Given the description of an element on the screen output the (x, y) to click on. 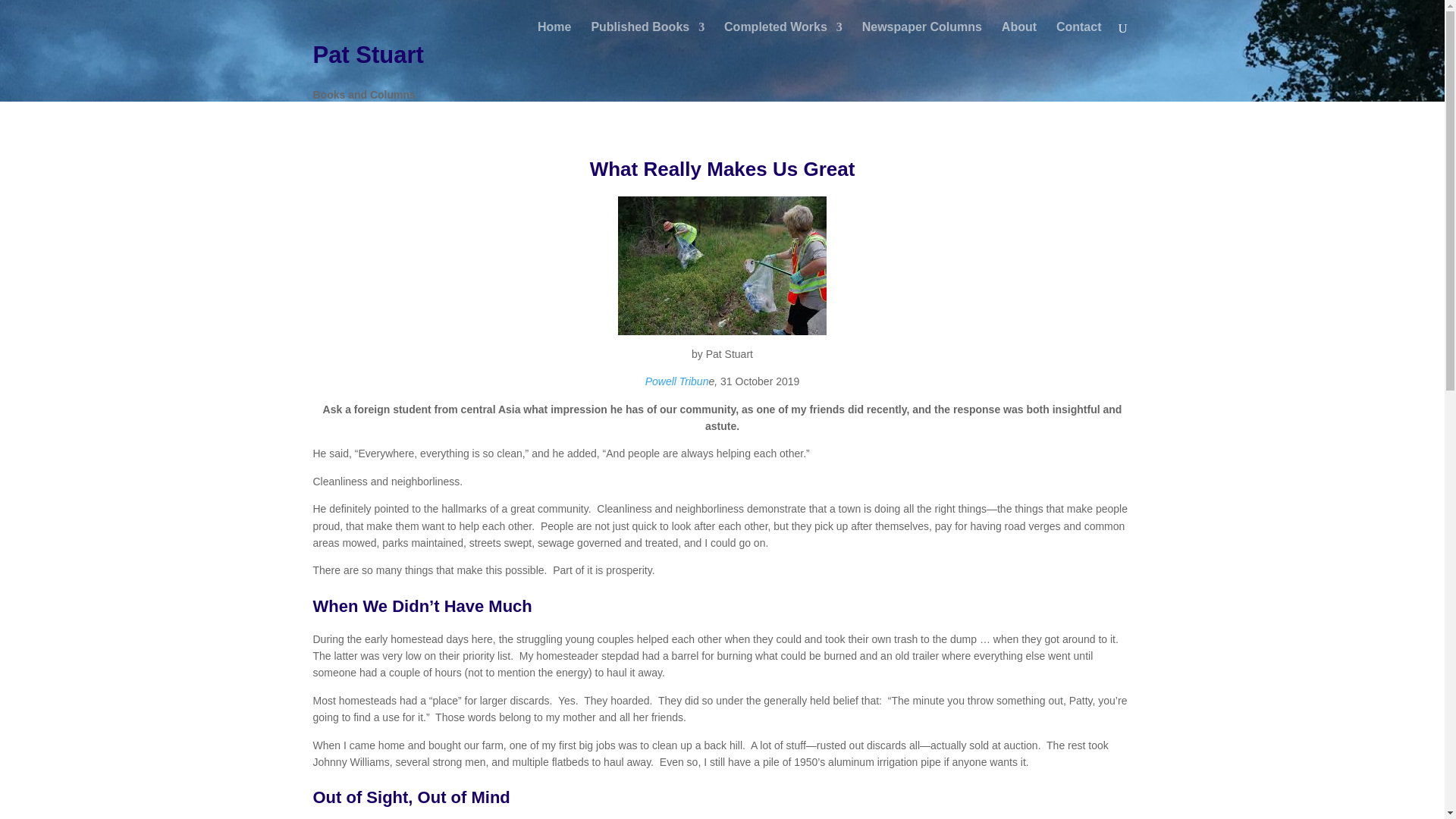
Powell Tribun (677, 381)
Contact (1079, 38)
Home (553, 38)
Newspaper Columns (921, 38)
Published Books (647, 38)
Completed Works (783, 38)
About (1018, 38)
